Given the description of an element on the screen output the (x, y) to click on. 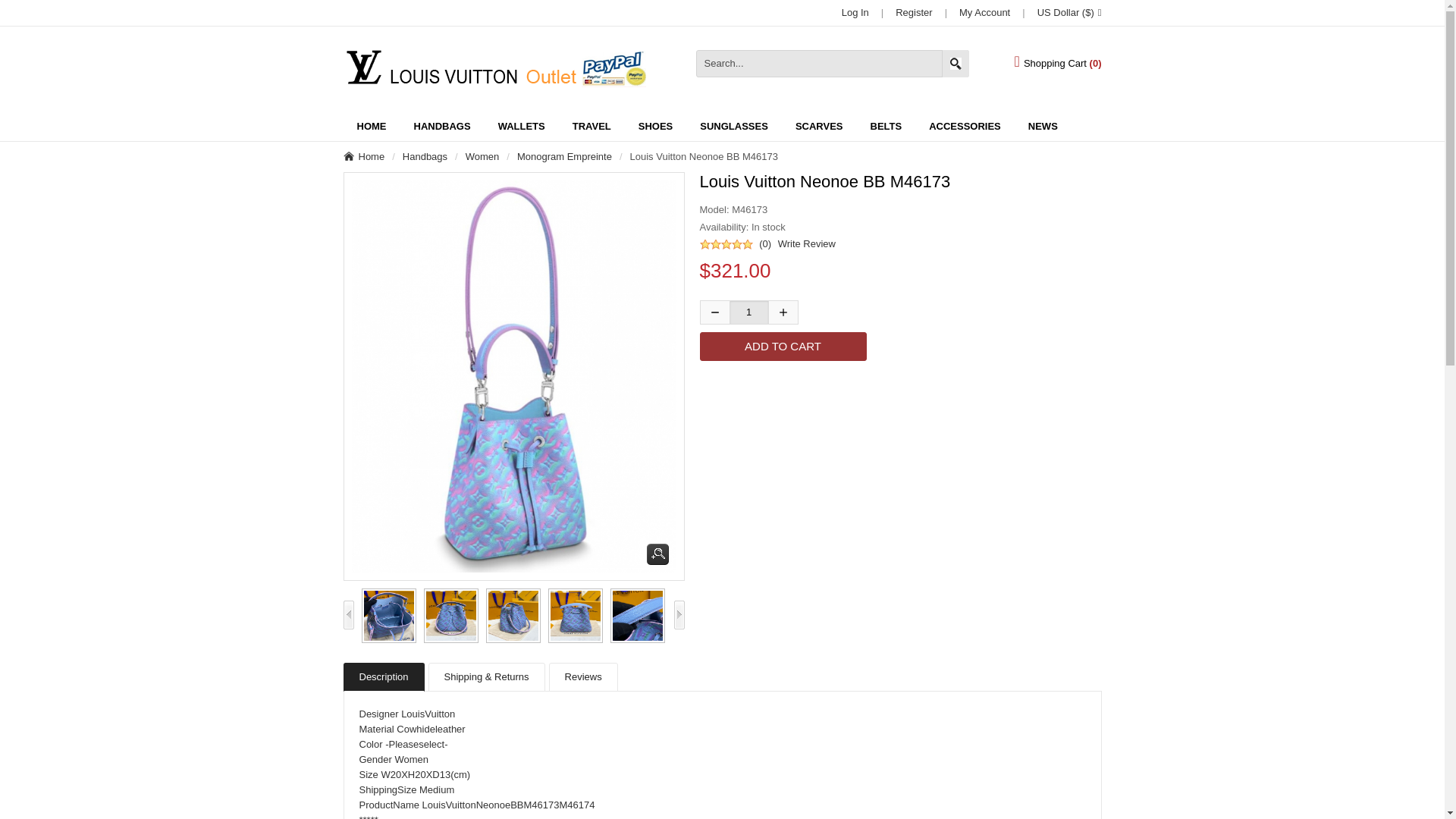
Louis Vuitton Neonoe BB M46173 (632, 615)
Louis Vuitton Neonoe BB M46173 (571, 615)
Search... (832, 62)
Register (913, 12)
My Account (984, 12)
Search (955, 62)
- (713, 312)
Add to Cart (782, 346)
1 (748, 312)
Louis Vuitton Neonoe BB M46173 (508, 615)
Search (955, 62)
HANDBAGS (442, 126)
HOME (370, 126)
Log In (854, 12)
High Quality Replica Louis Vuitton Bags Outlet (493, 69)
